Given the description of an element on the screen output the (x, y) to click on. 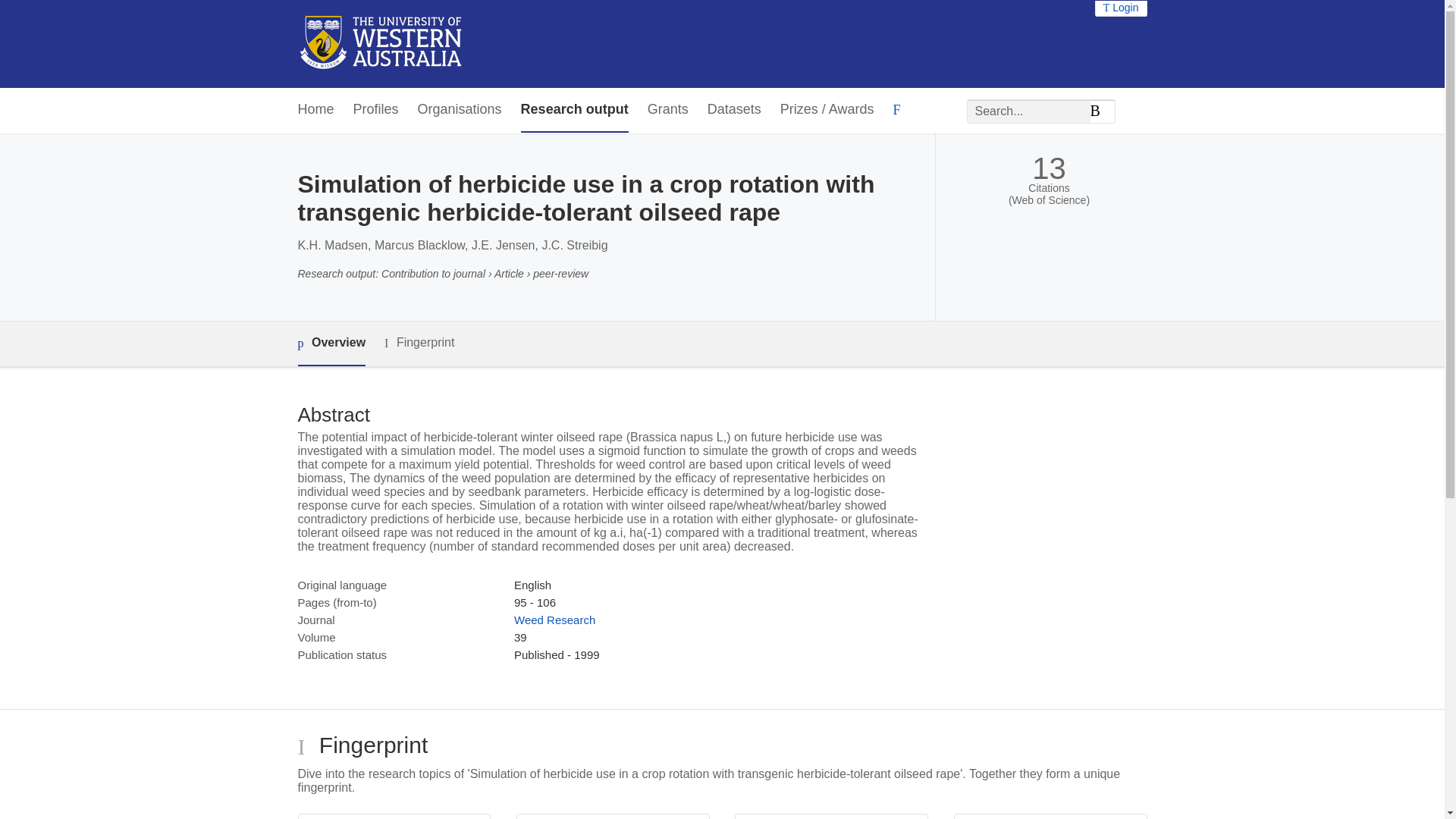
Fingerprint (419, 342)
Profiles (375, 109)
Login (1121, 7)
the UWA Profiles and Research Repository Home (380, 43)
Weed Research (554, 619)
Datasets (734, 109)
Overview (331, 343)
Research output (574, 109)
Organisations (459, 109)
